Given the description of an element on the screen output the (x, y) to click on. 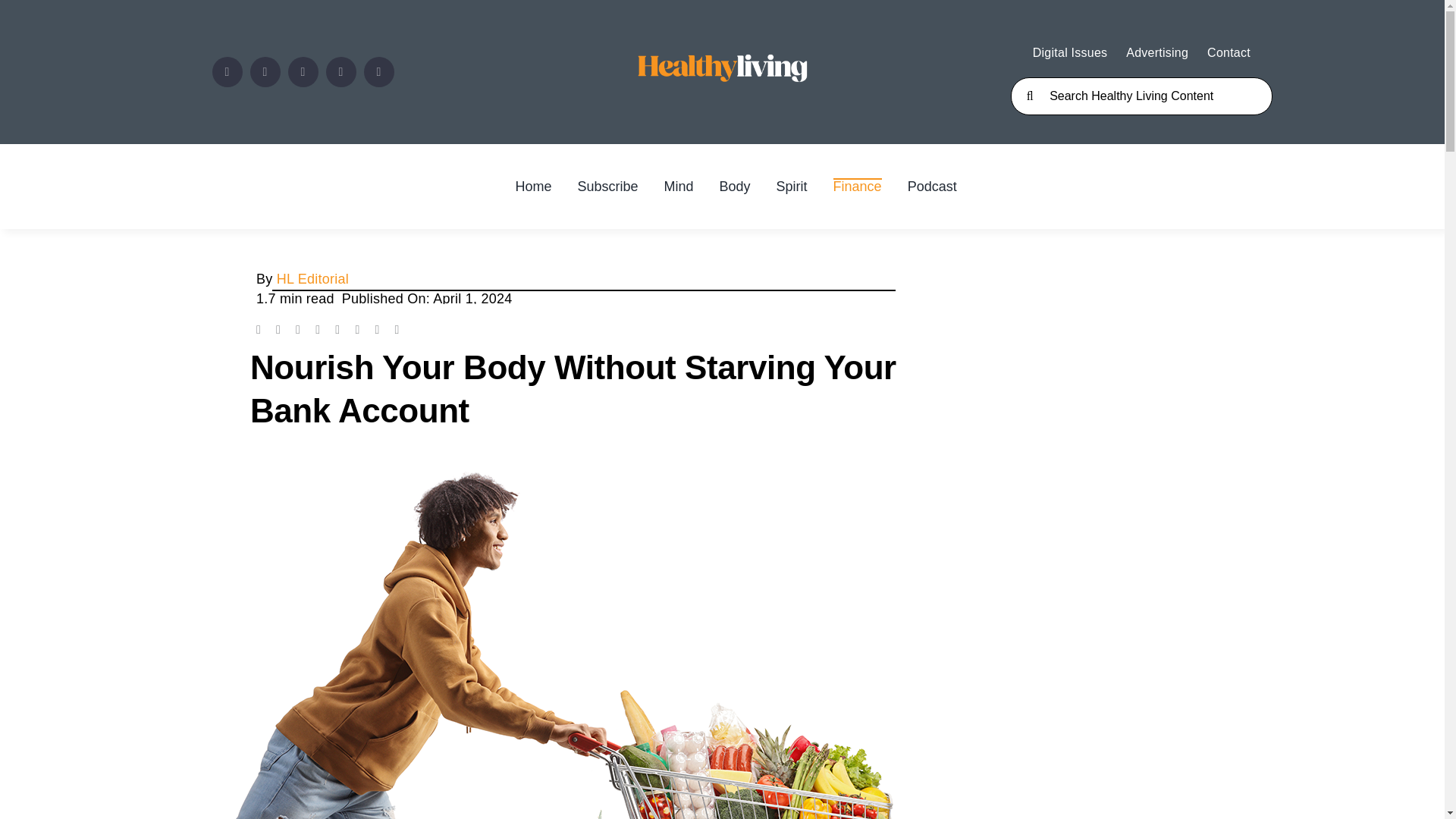
Body (735, 186)
Posts by HL Editorial (312, 278)
Digital Issues (1070, 53)
Spirit (792, 186)
Subscribe (606, 186)
Finance (857, 186)
Contact (1228, 53)
Podcast (931, 186)
Home (533, 186)
HL Editorial (312, 278)
Advertising (1156, 53)
Mind (678, 186)
